Given the description of an element on the screen output the (x, y) to click on. 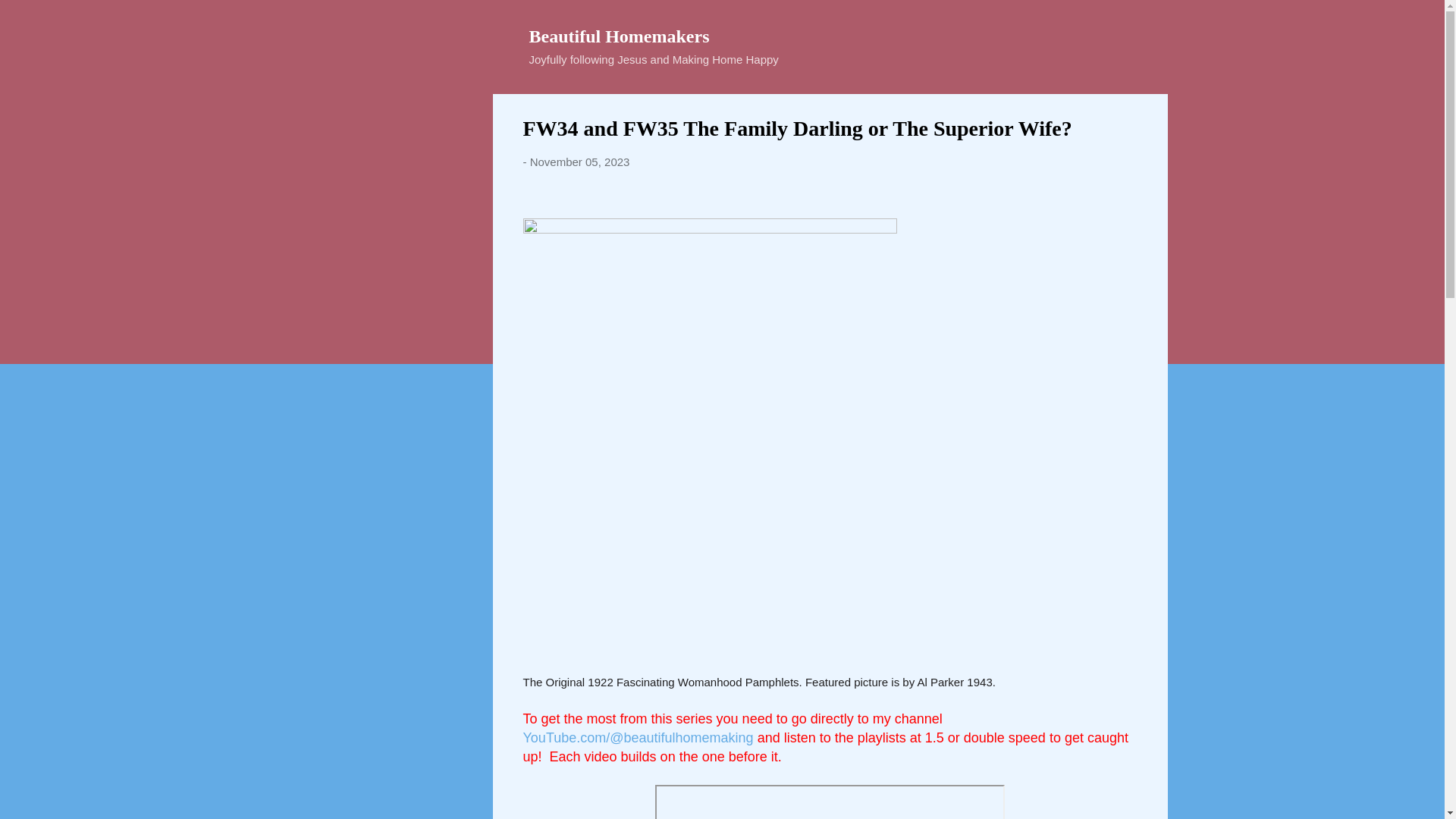
permanent link (579, 161)
Beautiful Homemakers (619, 35)
Search (29, 18)
November 05, 2023 (579, 161)
